Given the description of an element on the screen output the (x, y) to click on. 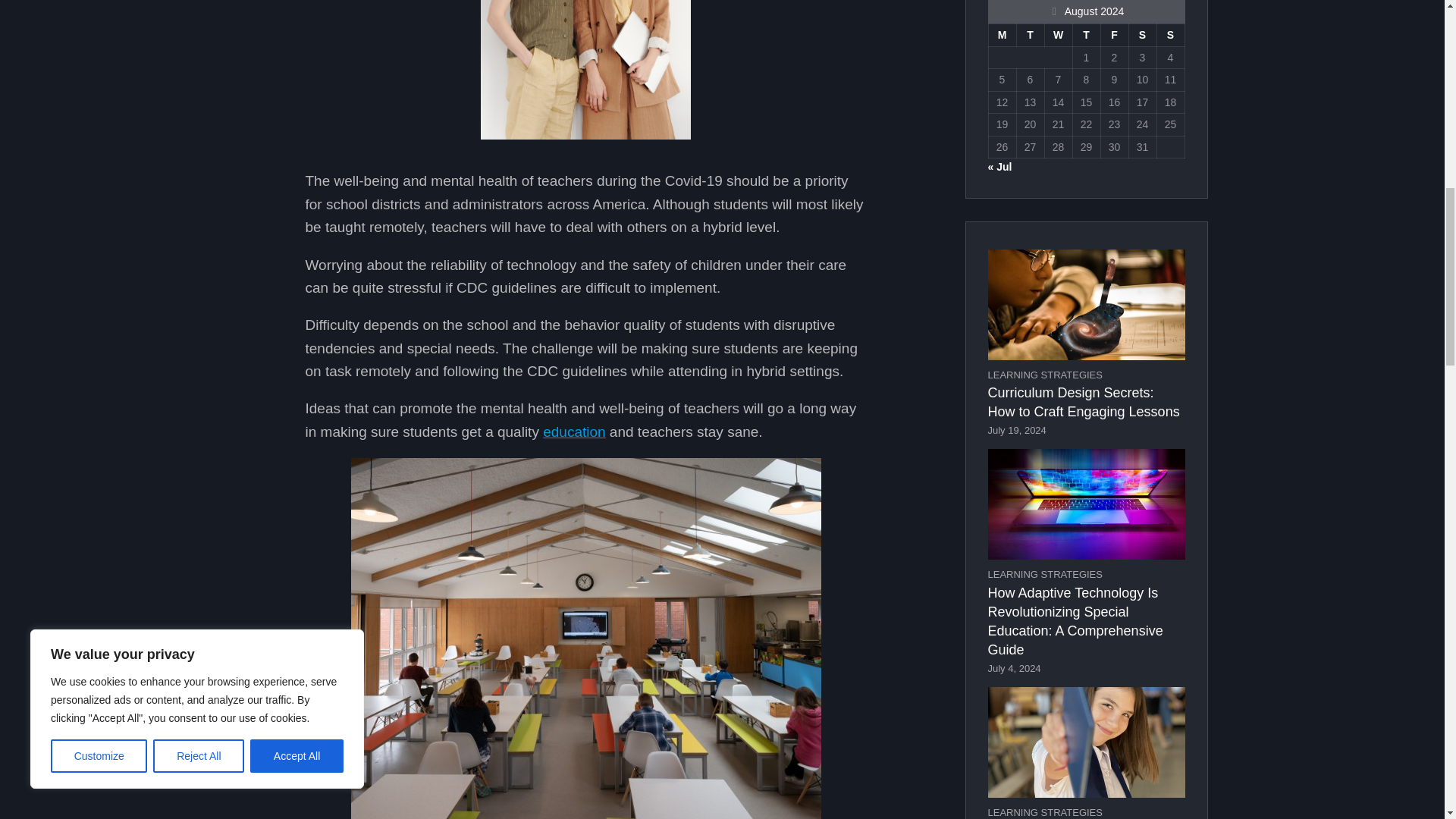
Thursday (1085, 35)
Saturday (1142, 35)
Friday (1114, 35)
Sunday (1170, 35)
Tuesday (1029, 35)
Wednesday (1057, 35)
Monday (1002, 35)
